Given the description of an element on the screen output the (x, y) to click on. 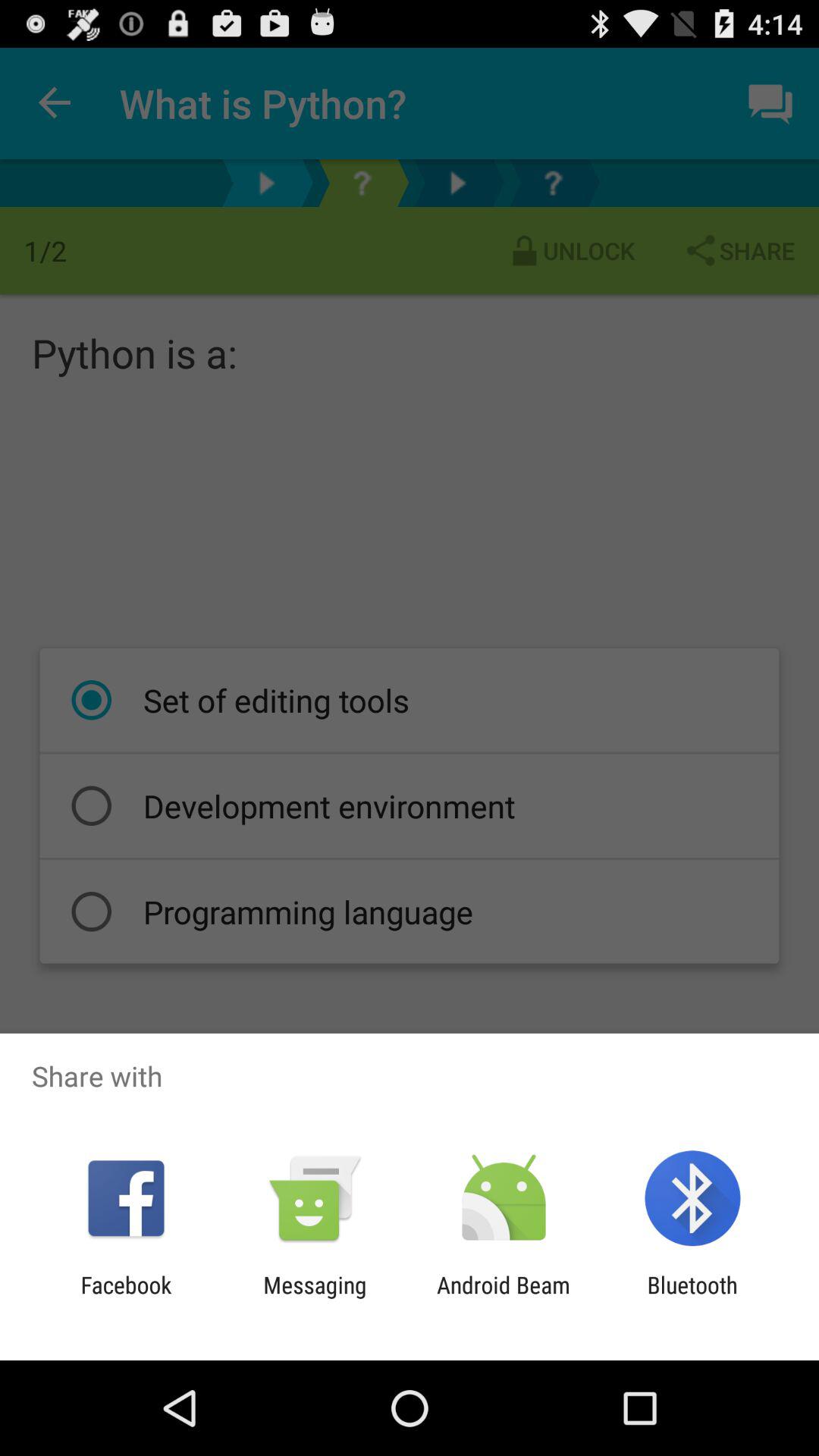
turn on item next to the android beam icon (314, 1298)
